Given the description of an element on the screen output the (x, y) to click on. 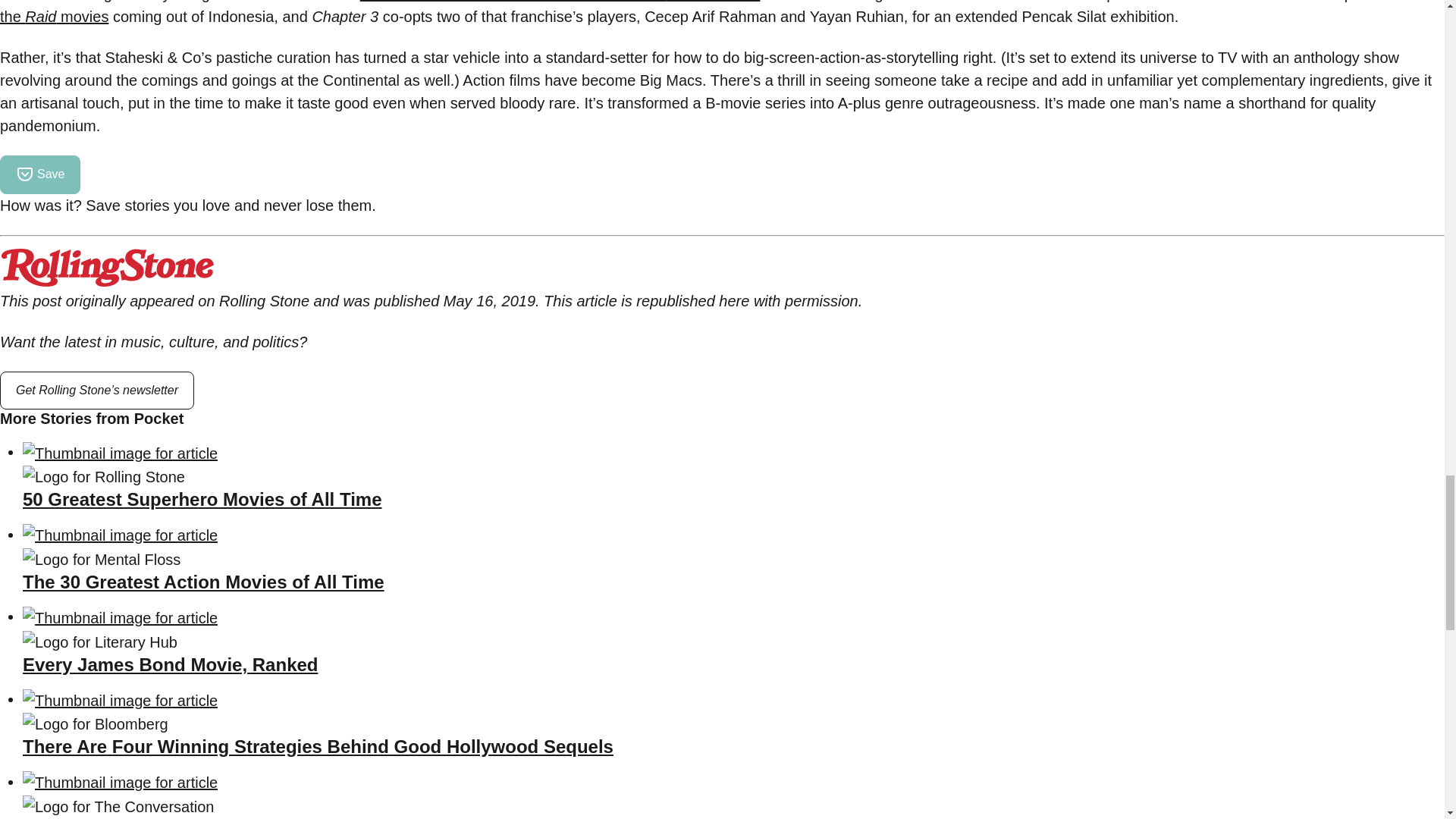
the Raid movies (53, 16)
Save (40, 174)
The Villainess (712, 1)
